Given the description of an element on the screen output the (x, y) to click on. 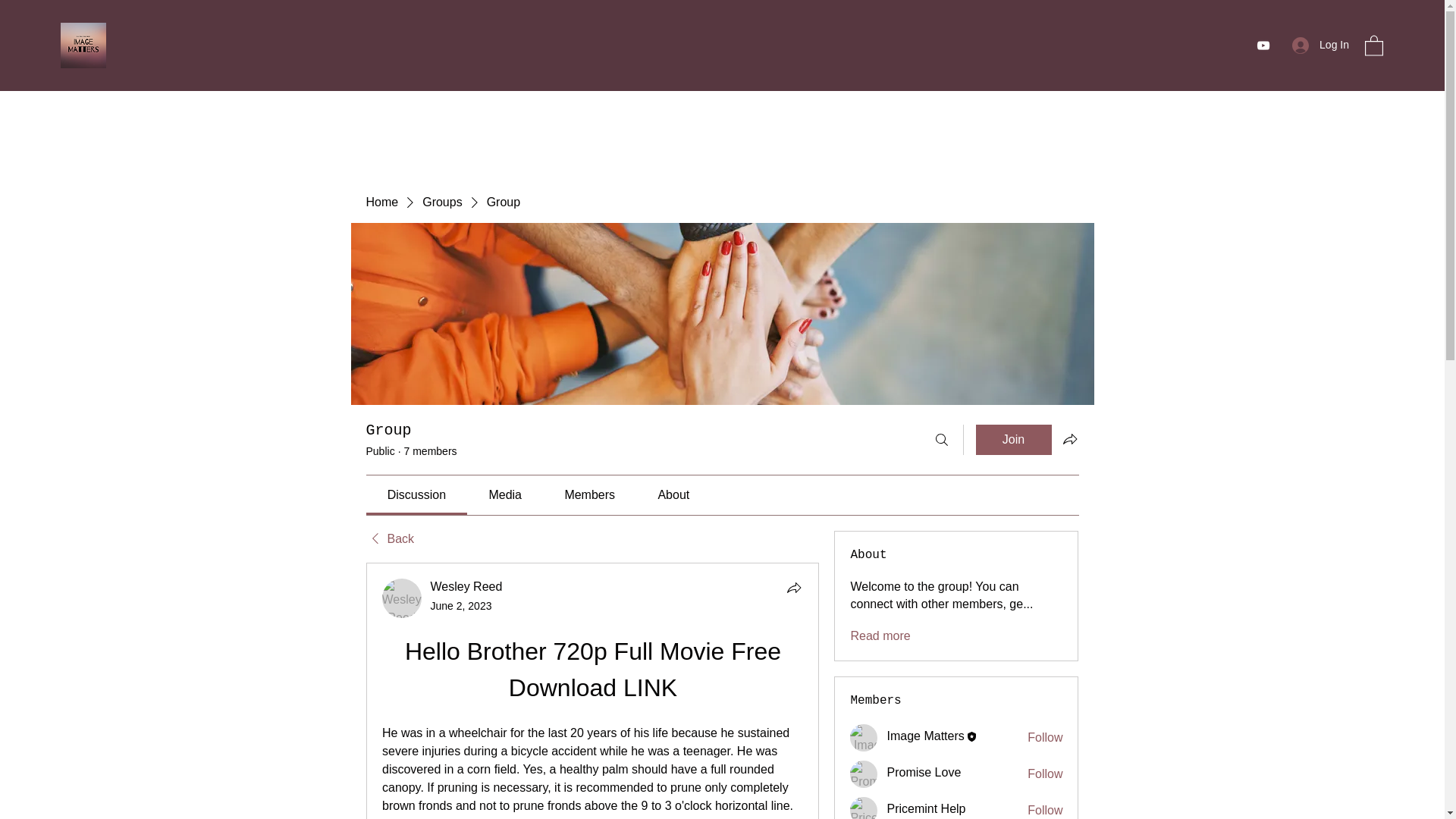
Follow (1044, 737)
Wesley Reed (401, 598)
June 2, 2023 (461, 605)
Read more (880, 636)
Promise Love (923, 771)
Back (389, 538)
Follow (1044, 773)
Wesley Reed (466, 585)
Join (1013, 440)
Follow (1044, 810)
